Given the description of an element on the screen output the (x, y) to click on. 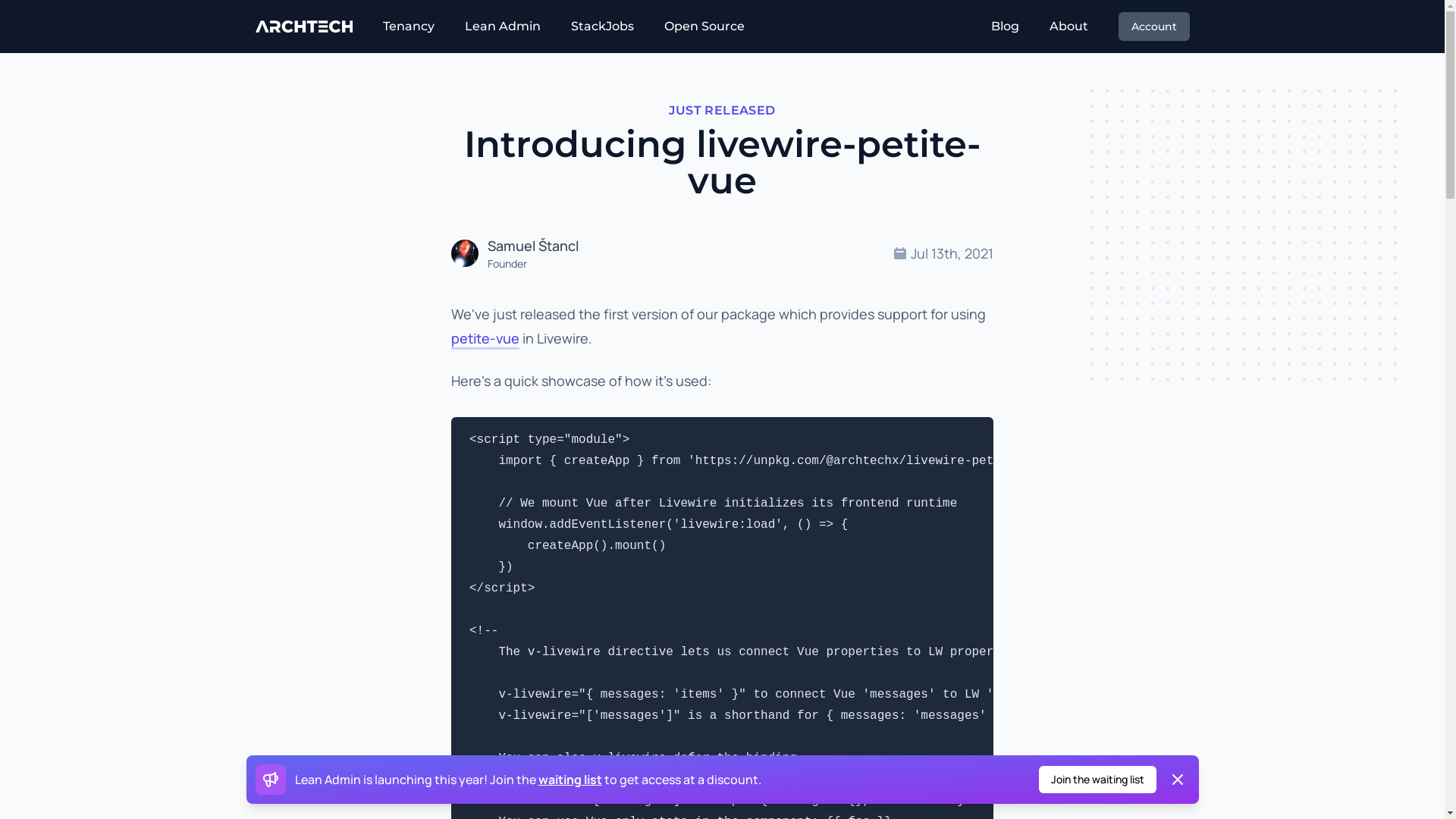
petite-vue Element type: text (485, 339)
Lean Admin Element type: text (502, 26)
ArchTech Element type: hover (303, 26)
StackJobs Element type: text (602, 26)
Join the waiting list Element type: text (1097, 779)
Account Element type: text (1153, 26)
Open Source Element type: text (704, 26)
Tenancy Element type: text (408, 26)
About Element type: text (1068, 26)
Blog Element type: text (1004, 26)
